Given the description of an element on the screen output the (x, y) to click on. 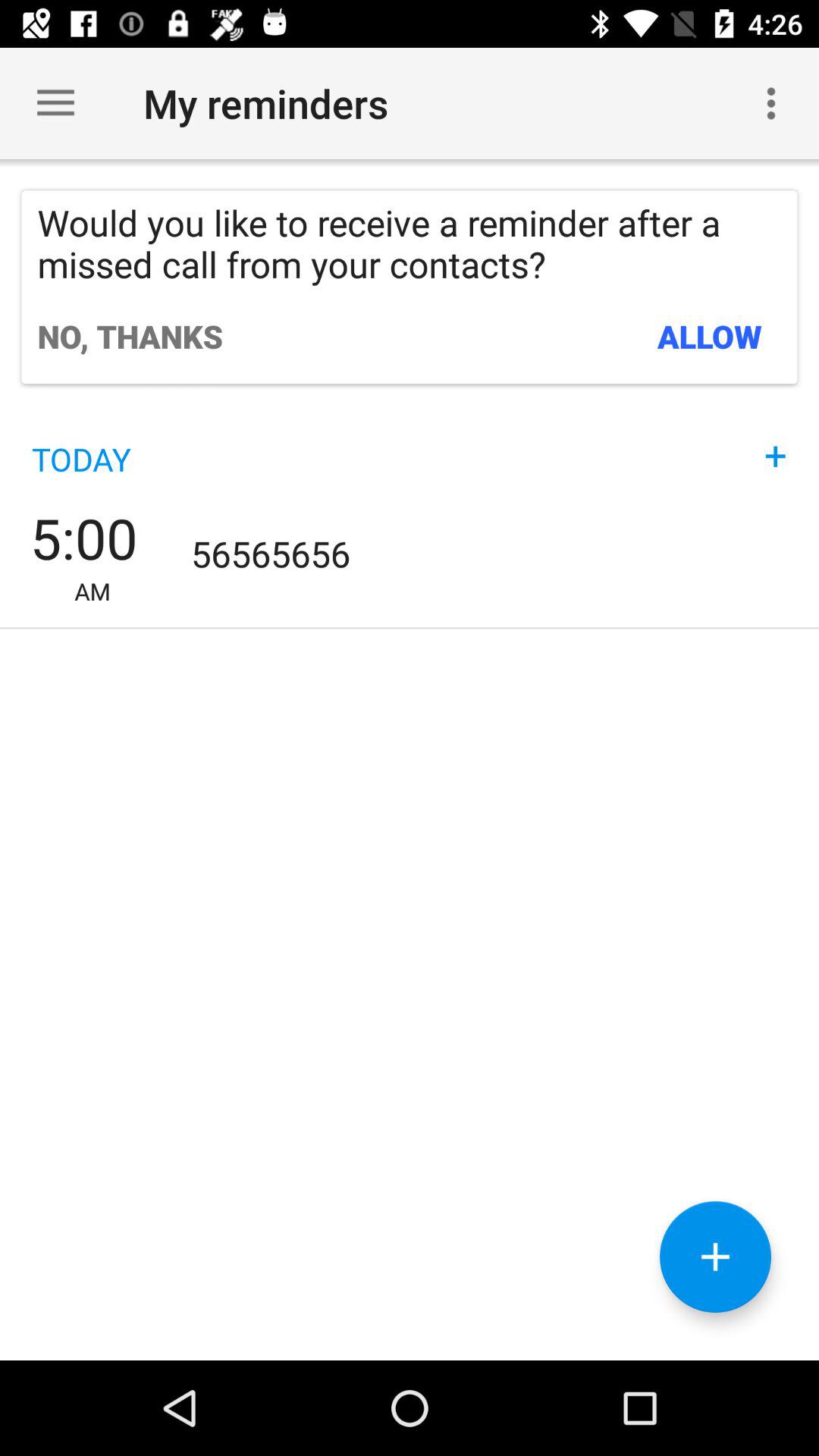
tap icon above the 56565656 item (775, 440)
